Given the description of an element on the screen output the (x, y) to click on. 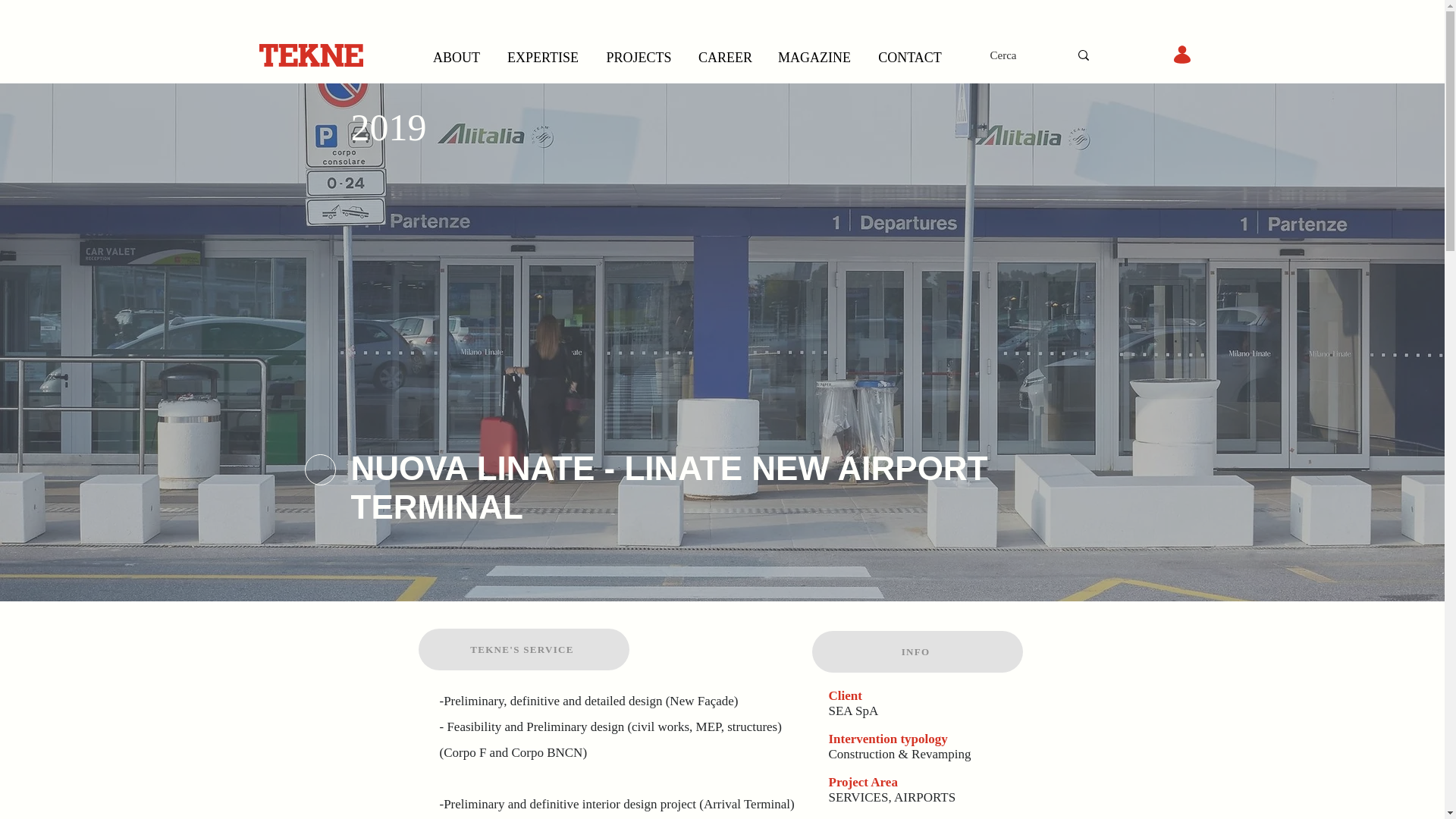
MAGAZINE (813, 57)
INFO (916, 651)
PROJECTS (638, 57)
EXPERTISE (543, 57)
ABOUT (456, 57)
CONTACT (910, 57)
TEKNE'S SERVICE (523, 649)
CAREER (724, 57)
